Given the description of an element on the screen output the (x, y) to click on. 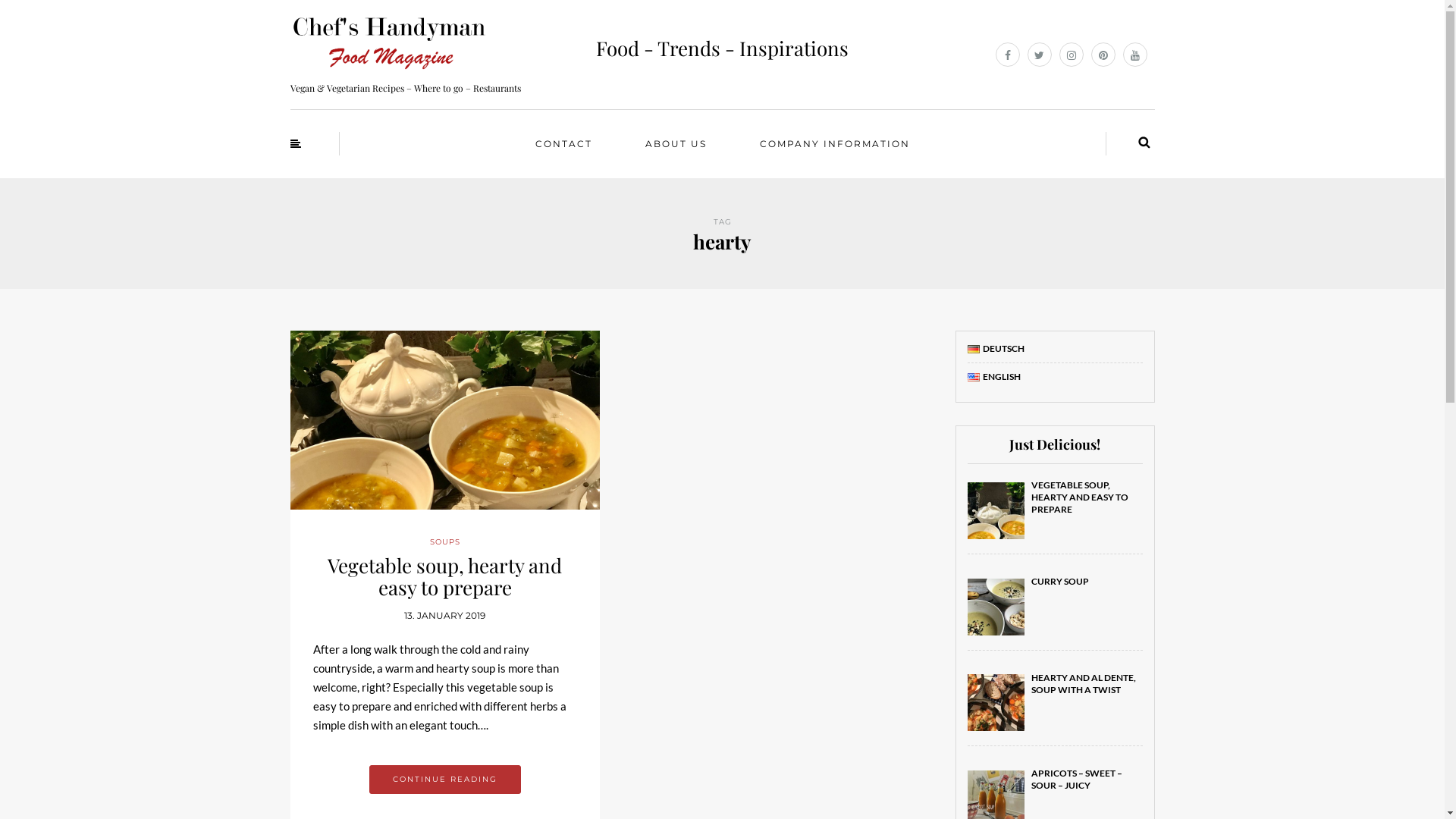
CURRY SOUP Element type: text (1059, 580)
Search Element type: text (1143, 142)
CONTINUE READING Element type: text (444, 779)
CONTACT Element type: text (562, 143)
ABOUT US Element type: text (675, 143)
Vegetable soup, hearty and easy to prepare Element type: text (444, 576)
VEGETABLE SOUP, HEARTY AND EASY TO PREPARE Element type: text (1079, 496)
ENGLISH Element type: text (993, 376)
SOUPS Element type: text (444, 541)
DEUTSCH Element type: text (995, 348)
COMPANY INFORMATION Element type: text (834, 143)
HEARTY AND AL DENTE, SOUP WITH A TWIST Element type: text (1083, 683)
